Given the description of an element on the screen output the (x, y) to click on. 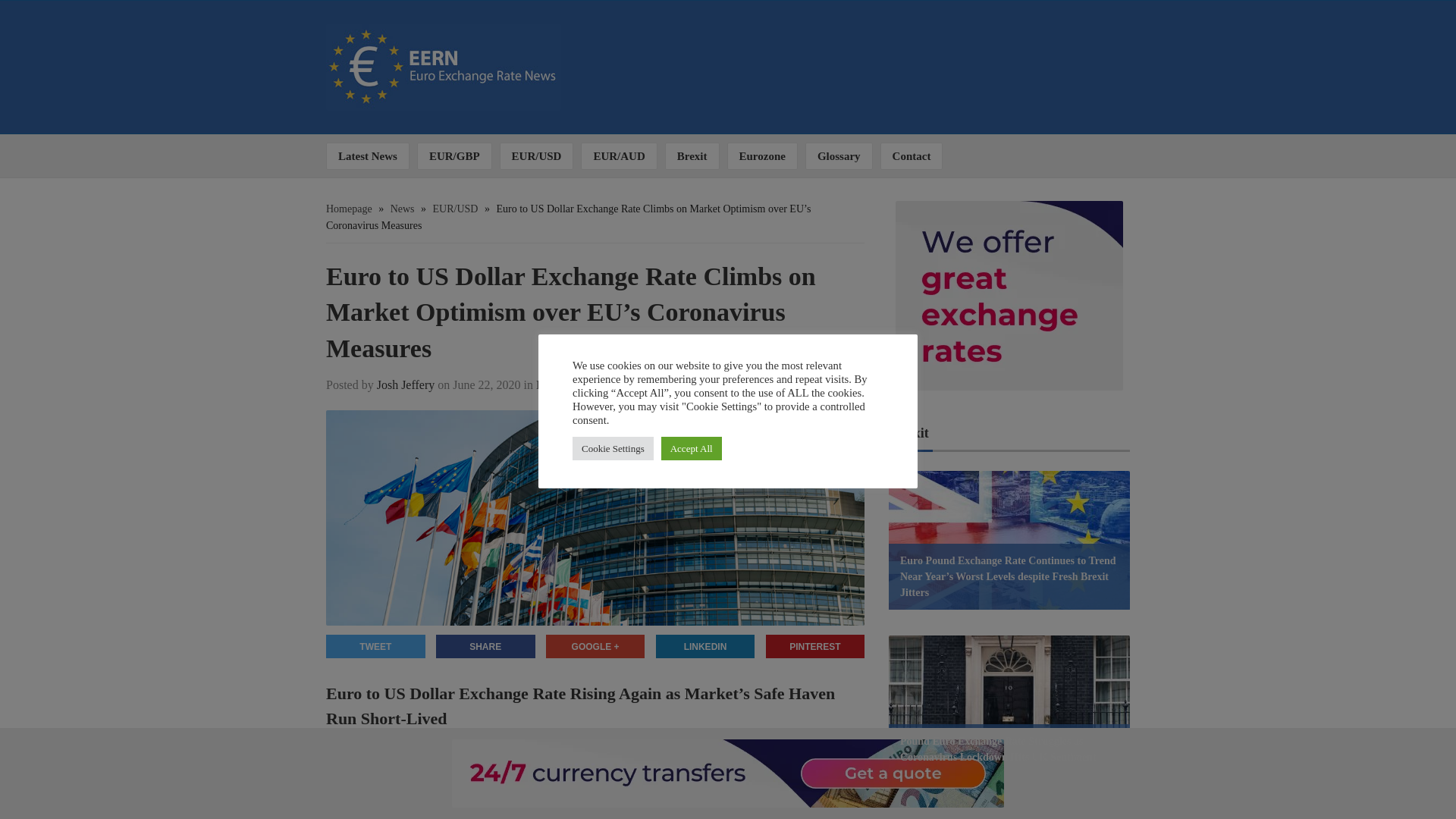
SHARE (485, 646)
safe haven demand (558, 787)
TWEET (375, 646)
LINKEDIN (705, 646)
Brexit (692, 155)
Eurozone (761, 155)
Latest News (367, 155)
Advertisement (951, 61)
PINTEREST (814, 646)
